Given the description of an element on the screen output the (x, y) to click on. 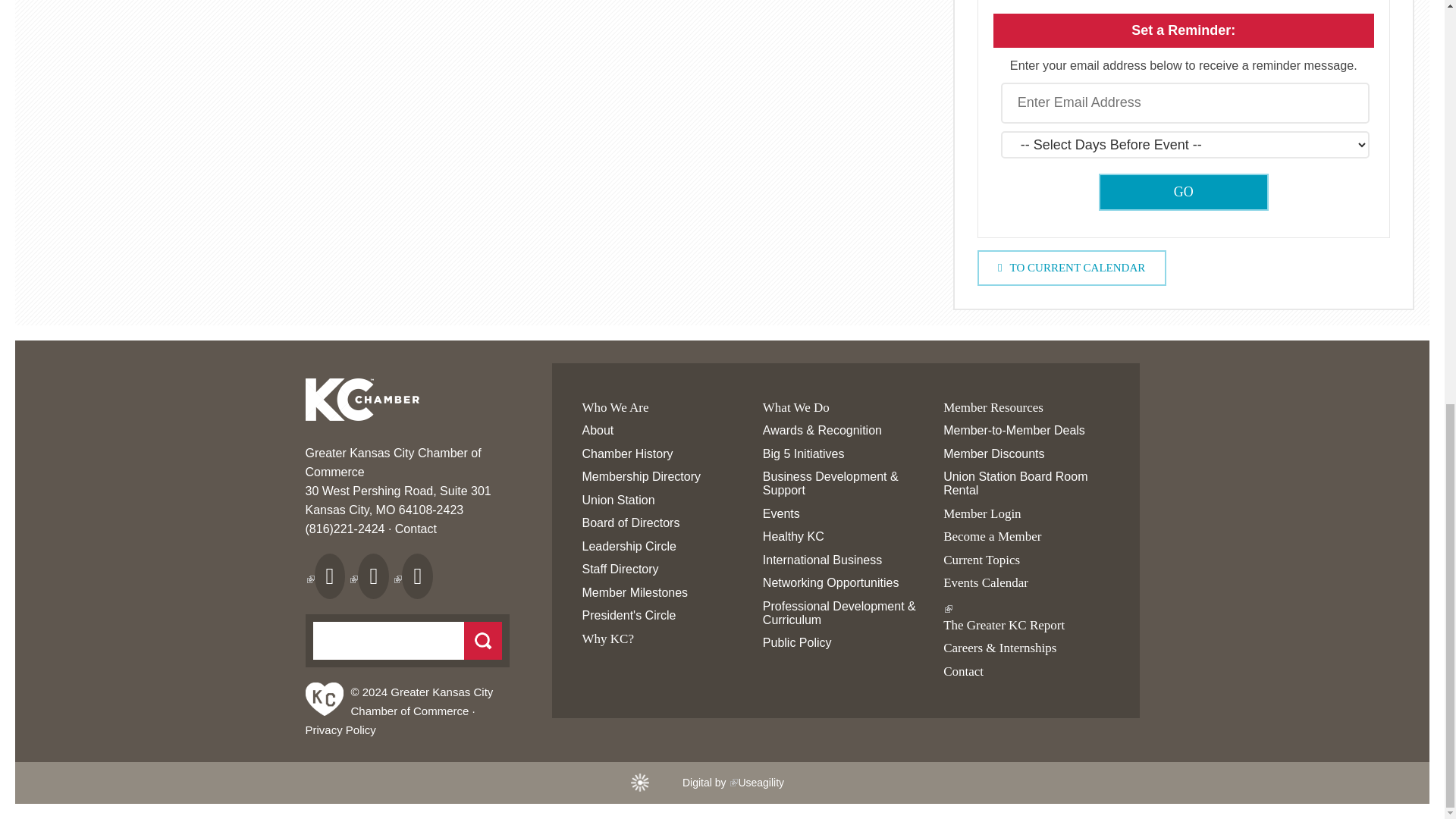
Go (1183, 191)
Search (483, 640)
Enter Email Address (1185, 102)
TO CURRENT CALENDAR (1071, 267)
Go (1183, 191)
